Given the description of an element on the screen output the (x, y) to click on. 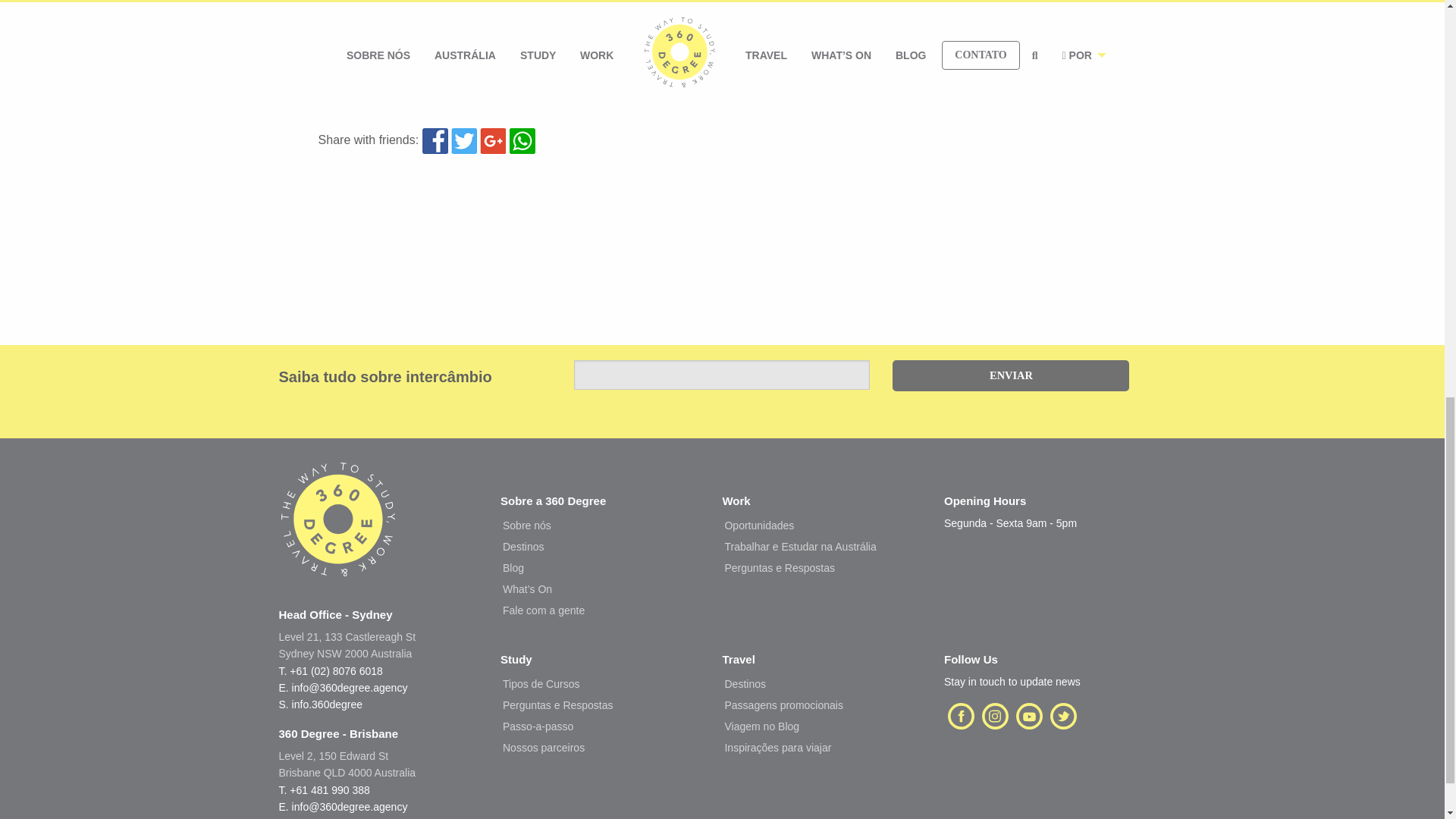
Enviar (1010, 375)
Enviar (1010, 375)
Acompanhe a 360 Degree no YouTube (1029, 714)
Acompanhe a 360 Degree no Instagram (994, 714)
Acompanhe a 360 Degree no Facebook (960, 714)
Acesse nosso site (338, 533)
